Given the description of an element on the screen output the (x, y) to click on. 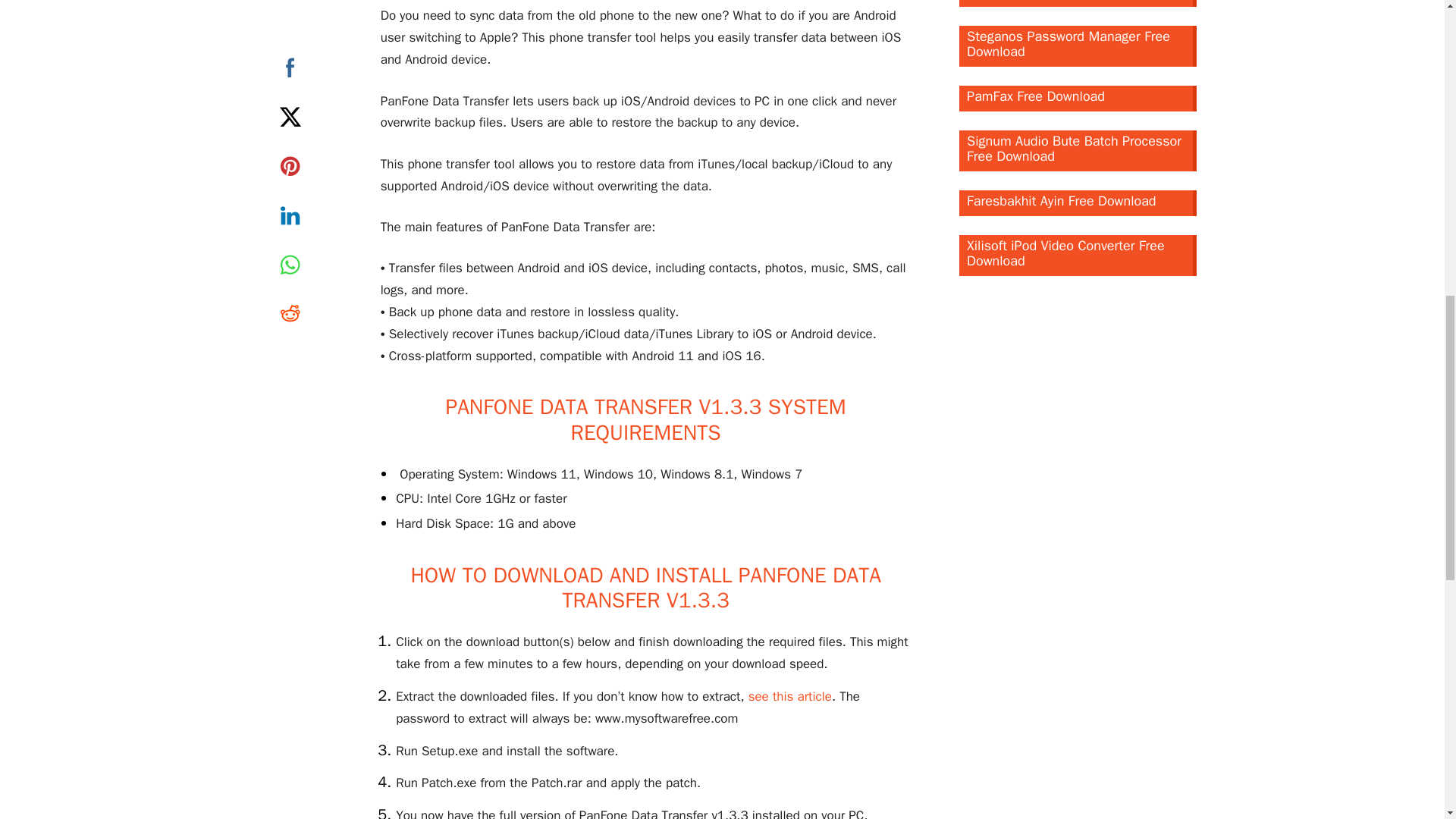
Steganos Password Manager Free Download (1077, 45)
Cleanersoft ACleaner Free Download (1077, 3)
Signum Audio Bute Batch Processor Free Download (1077, 150)
see this article (789, 696)
Xilisoft iPod Video Converter Free Download (1077, 255)
PamFax Free Download (1077, 98)
Faresbakhit Ayin Free Download (1077, 203)
